Given the description of an element on the screen output the (x, y) to click on. 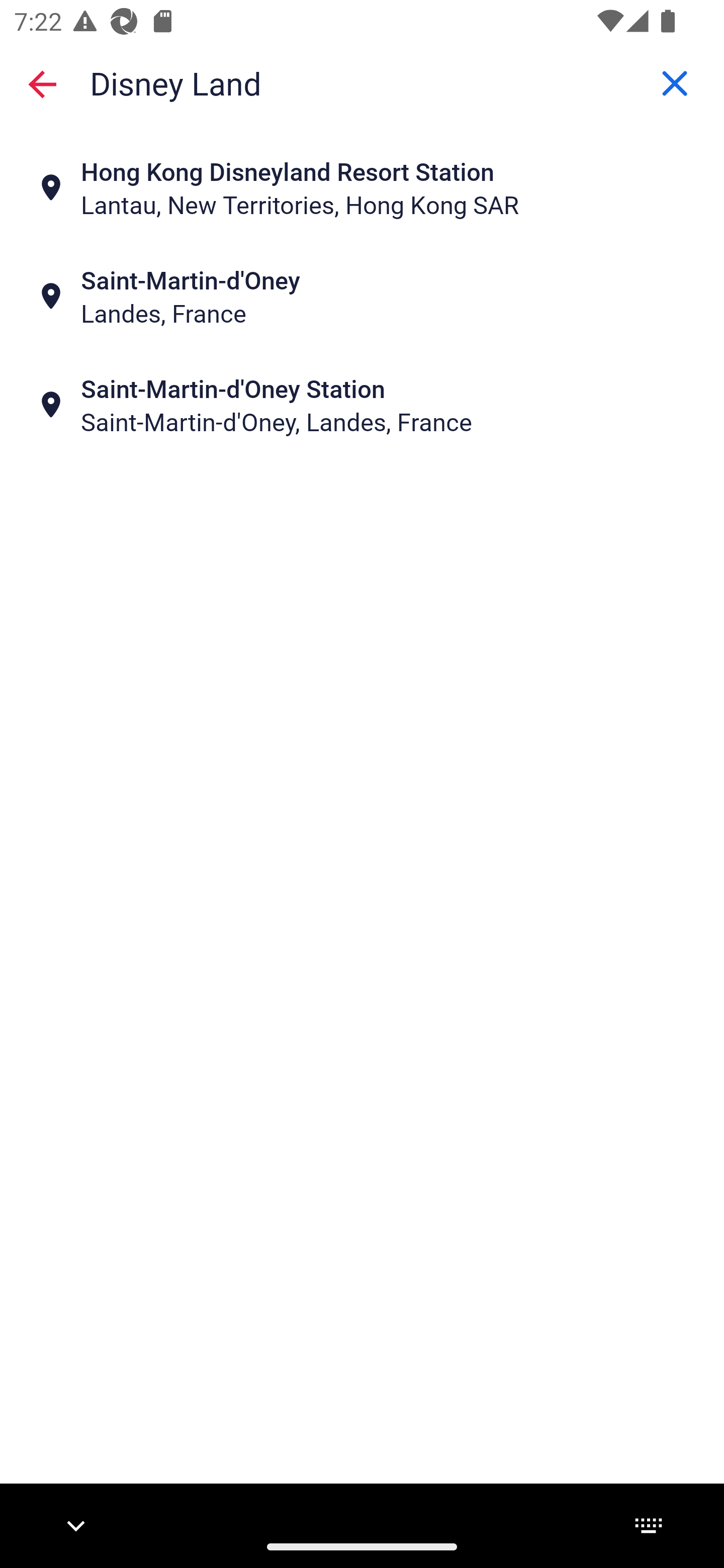
Clear Pick-up (674, 82)
Pick-up, Disney Land (361, 82)
Close search screen (41, 83)
